Given the description of an element on the screen output the (x, y) to click on. 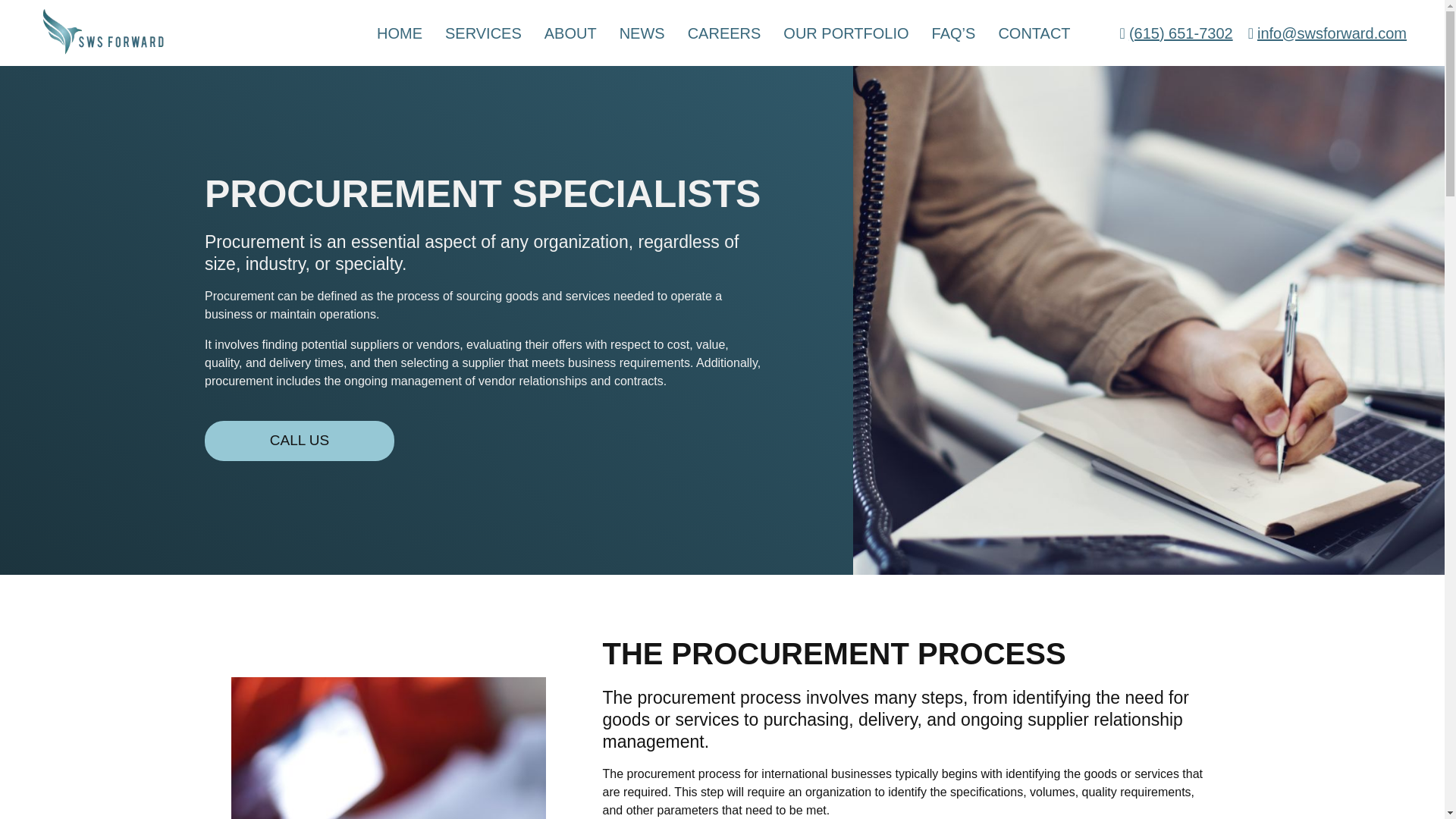
CONTACT (1033, 32)
ABOUT (570, 32)
HOME (399, 32)
NEWS (642, 32)
OUR PORTFOLIO (845, 32)
CALL US (299, 440)
SERVICES (483, 32)
CAREERS (724, 32)
